Given the description of an element on the screen output the (x, y) to click on. 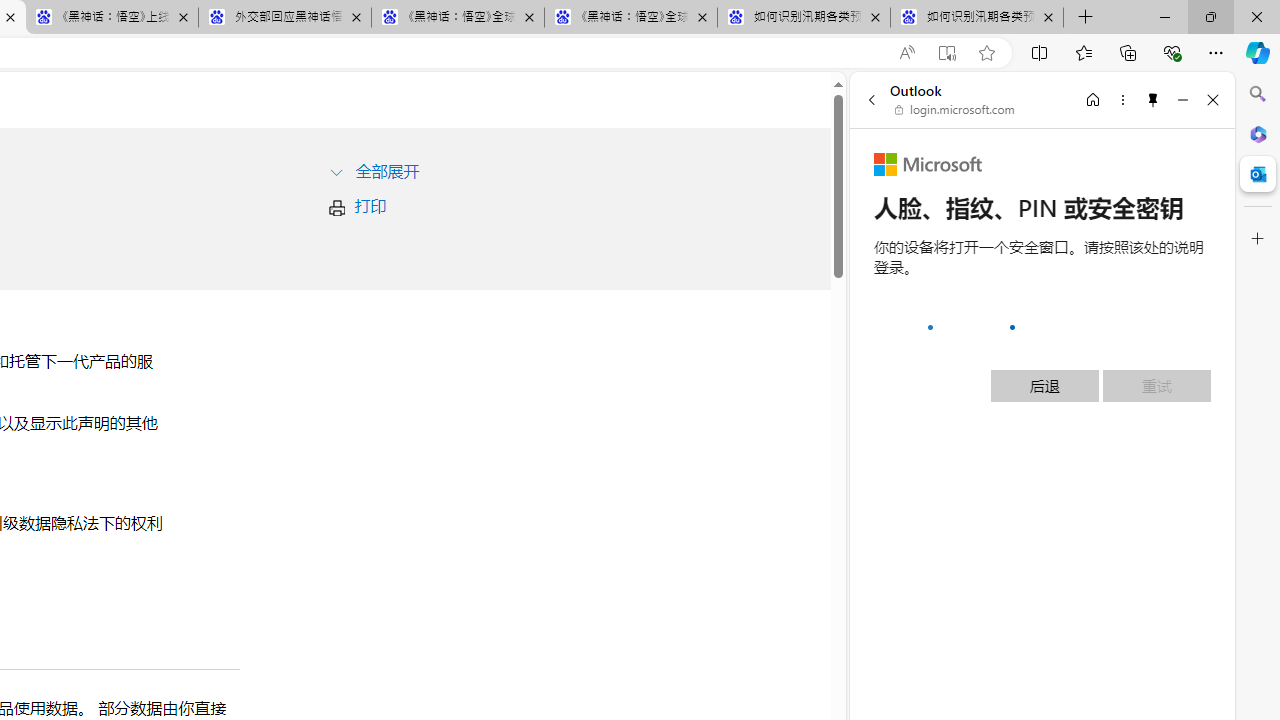
Enter Immersive Reader (F9) (946, 53)
